Given the description of an element on the screen output the (x, y) to click on. 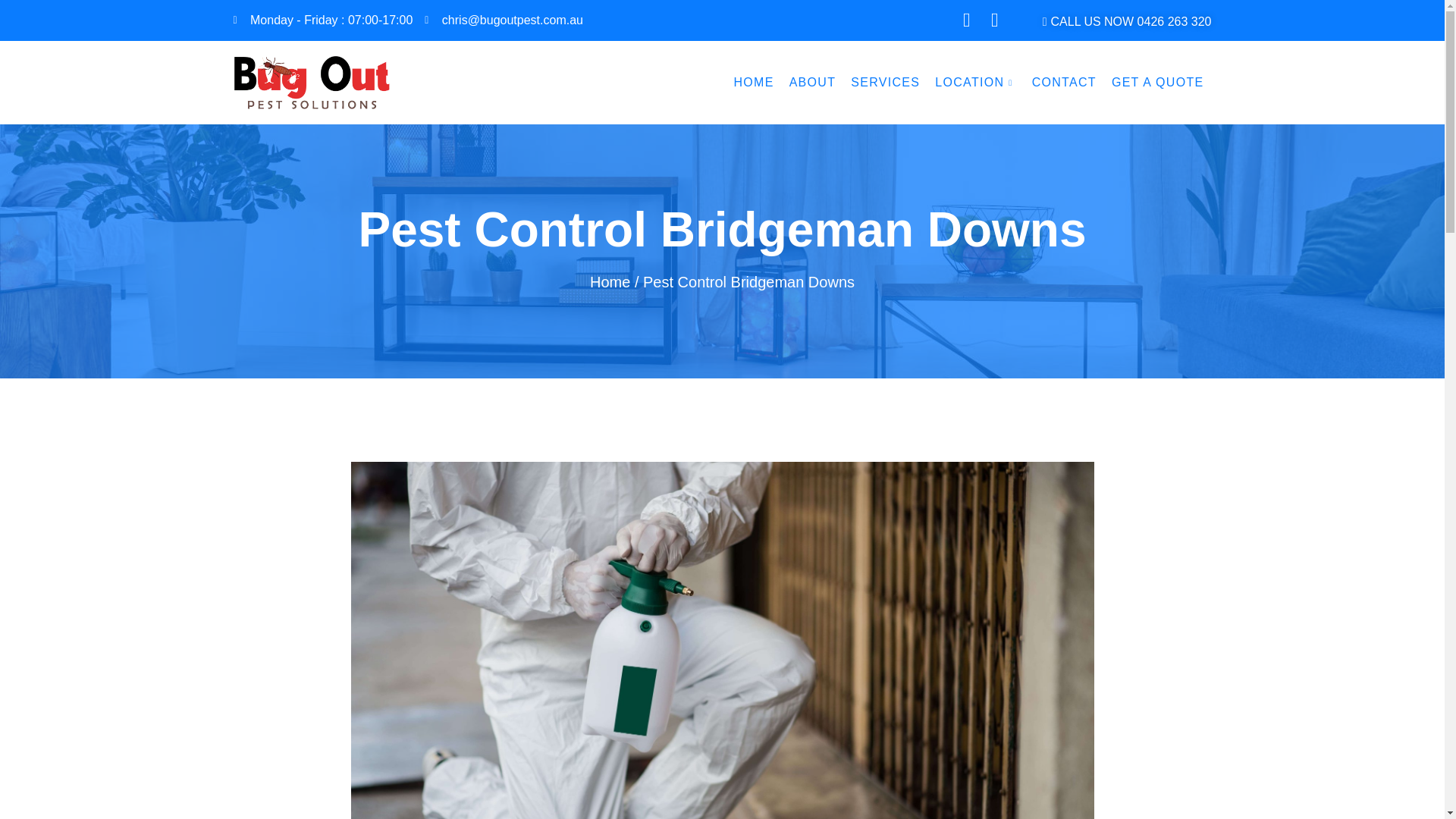
GET A QUOTE (1157, 82)
LOCATION (975, 82)
ABOUT (812, 82)
HOME (752, 82)
CALL US NOW 0426 263 320 (1126, 21)
CONTACT (1064, 82)
SERVICES (885, 82)
